Given the description of an element on the screen output the (x, y) to click on. 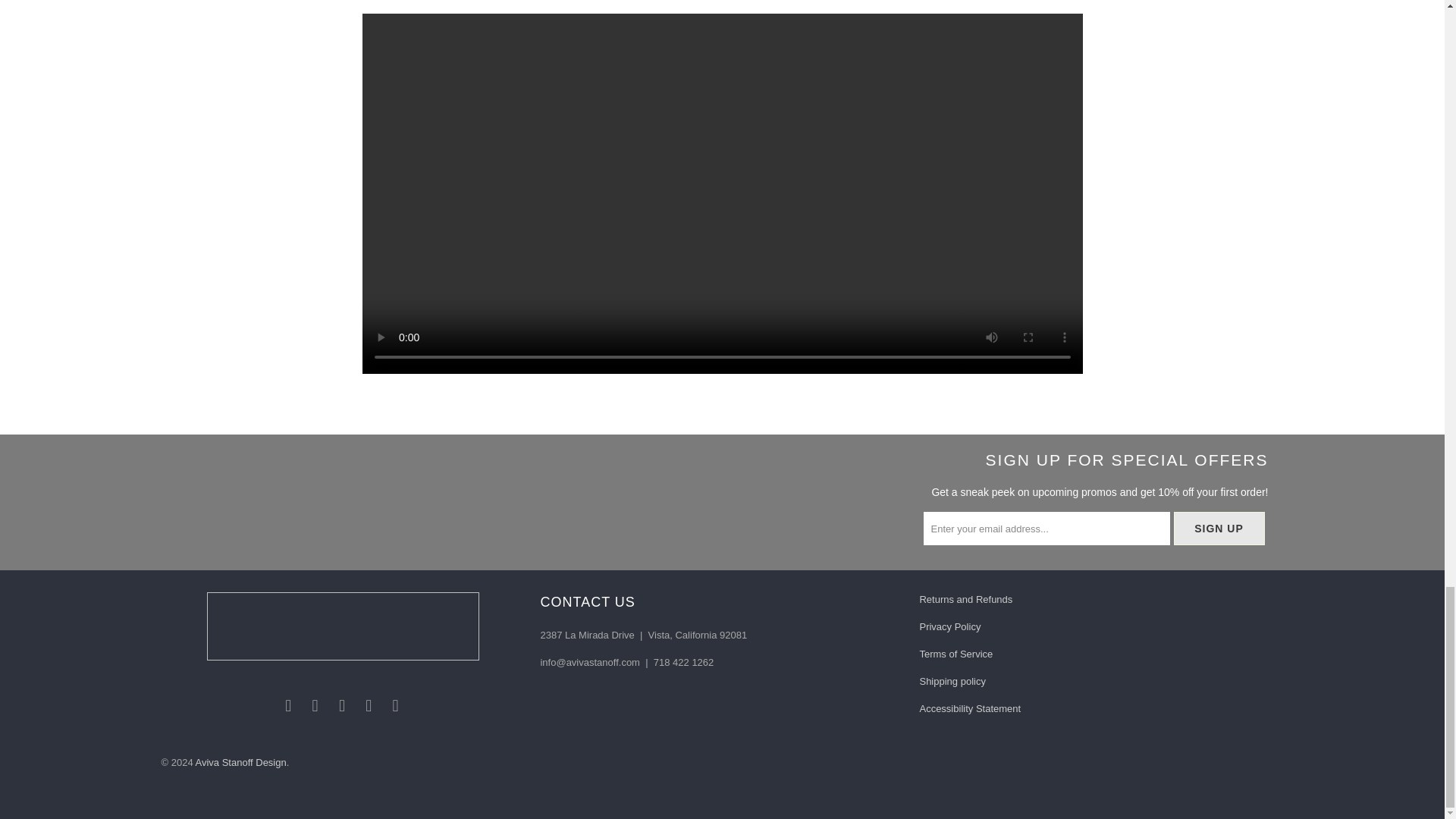
Shipping policy (951, 681)
Aviva Stanoff Design on Facebook (288, 705)
Aviva Stanoff Design on Pinterest (342, 705)
Aviva Stanoff Design on Instagram (369, 705)
Aviva Stanoff Design on YouTube (315, 705)
Return and Refunds (964, 599)
Terms of service (955, 654)
Aviva Stanoff Design on LinkedIn (395, 705)
Privacy policy (948, 626)
Sign Up (1219, 528)
